Given the description of an element on the screen output the (x, y) to click on. 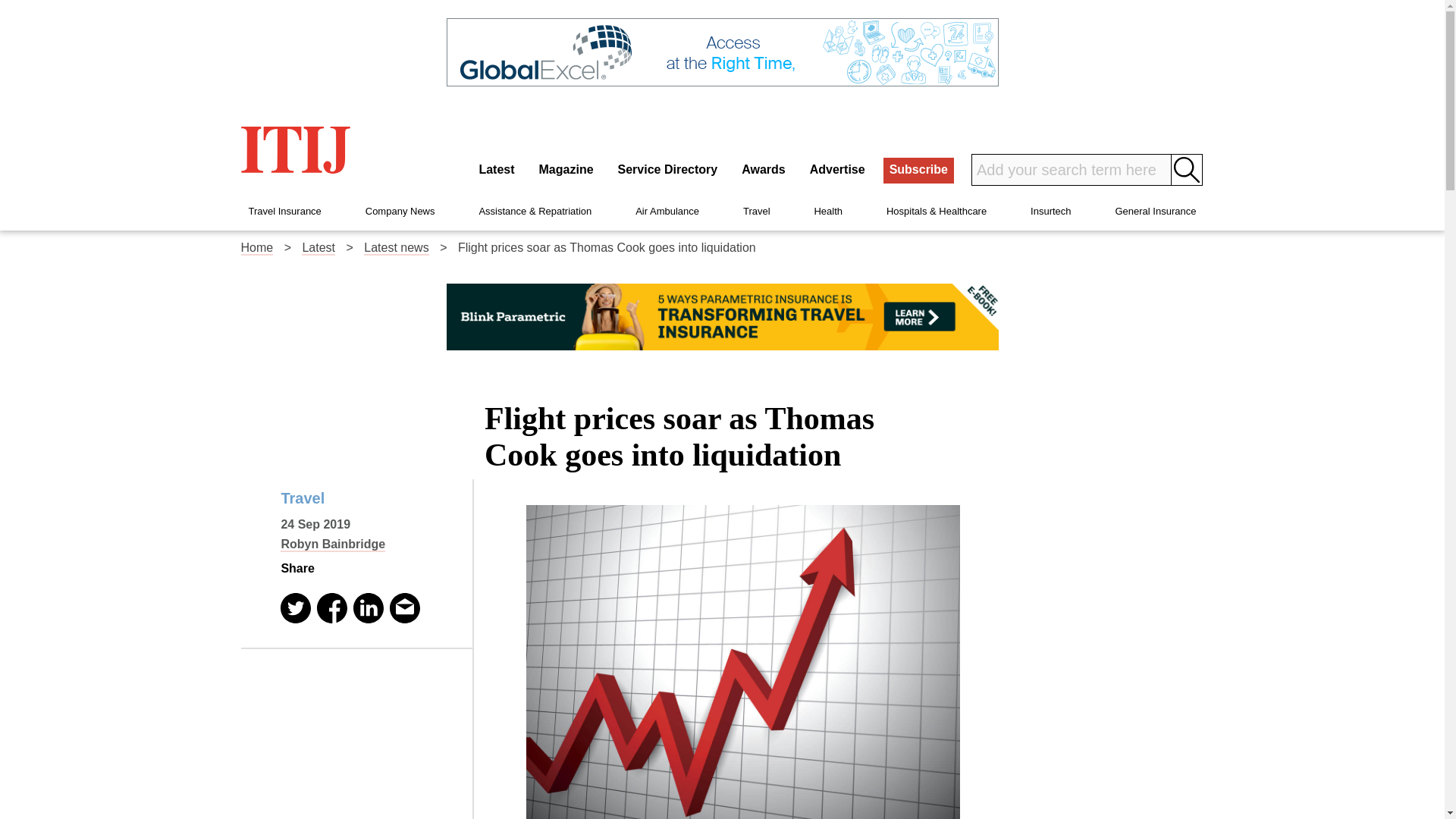
Air Ambulance (666, 211)
Subscribe (918, 170)
Awards (763, 170)
Latest (317, 247)
Search (1187, 169)
Latest news (396, 247)
Insurtech (1050, 211)
Service Directory (667, 170)
Share on Facebook (332, 607)
Home (257, 247)
General Insurance (1154, 211)
Send by email (405, 607)
Share on LinkedIn (368, 607)
Search (1187, 169)
Magazine (565, 170)
